Given the description of an element on the screen output the (x, y) to click on. 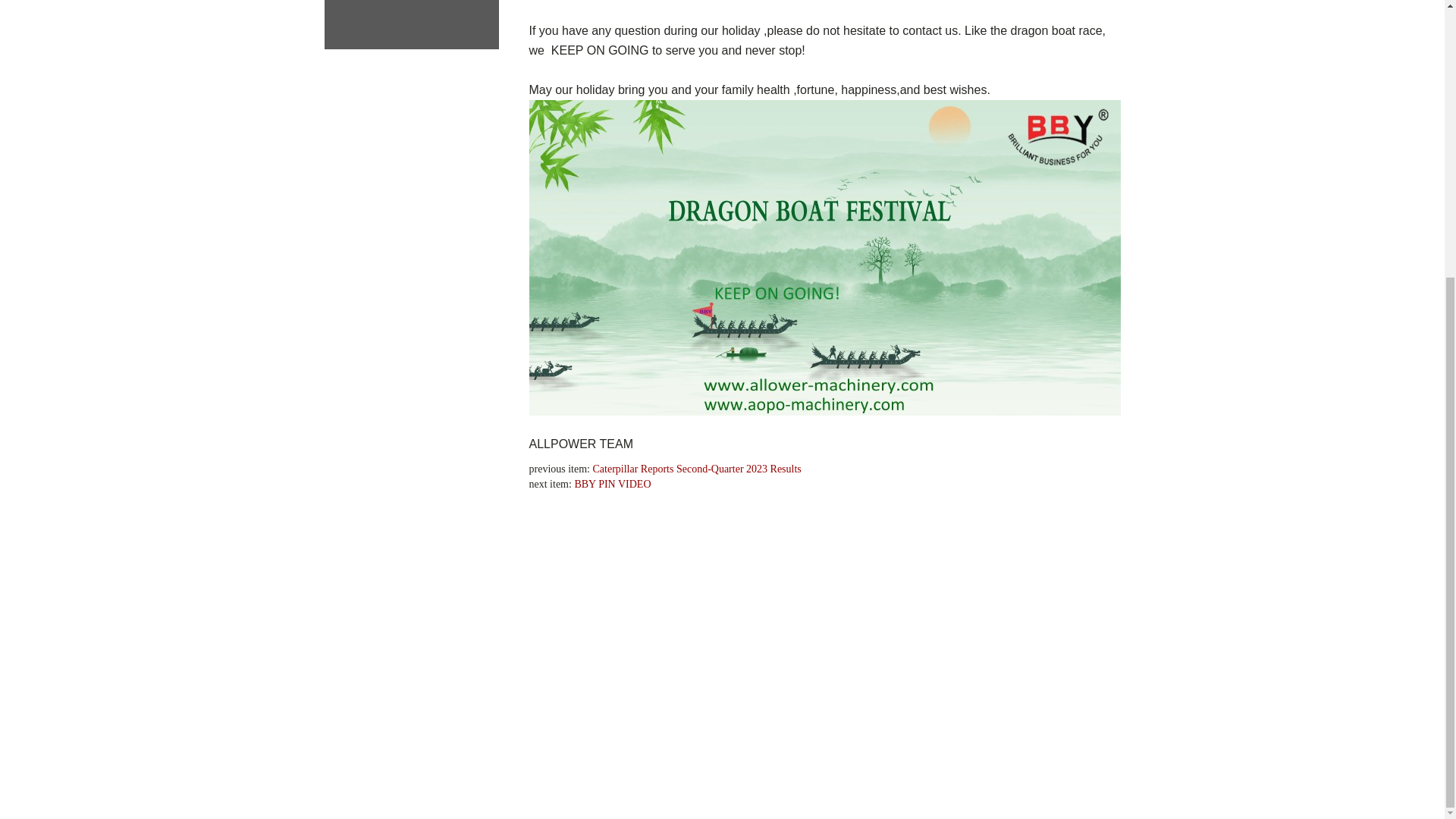
BBY PIN VIDEO (670, 483)
Caterpillar Reports Second-Quarter 2023 Results (775, 469)
BBY PIN VIDEO (611, 483)
Caterpillar Reports Second-Quarter 2023 Results (697, 469)
